Given the description of an element on the screen output the (x, y) to click on. 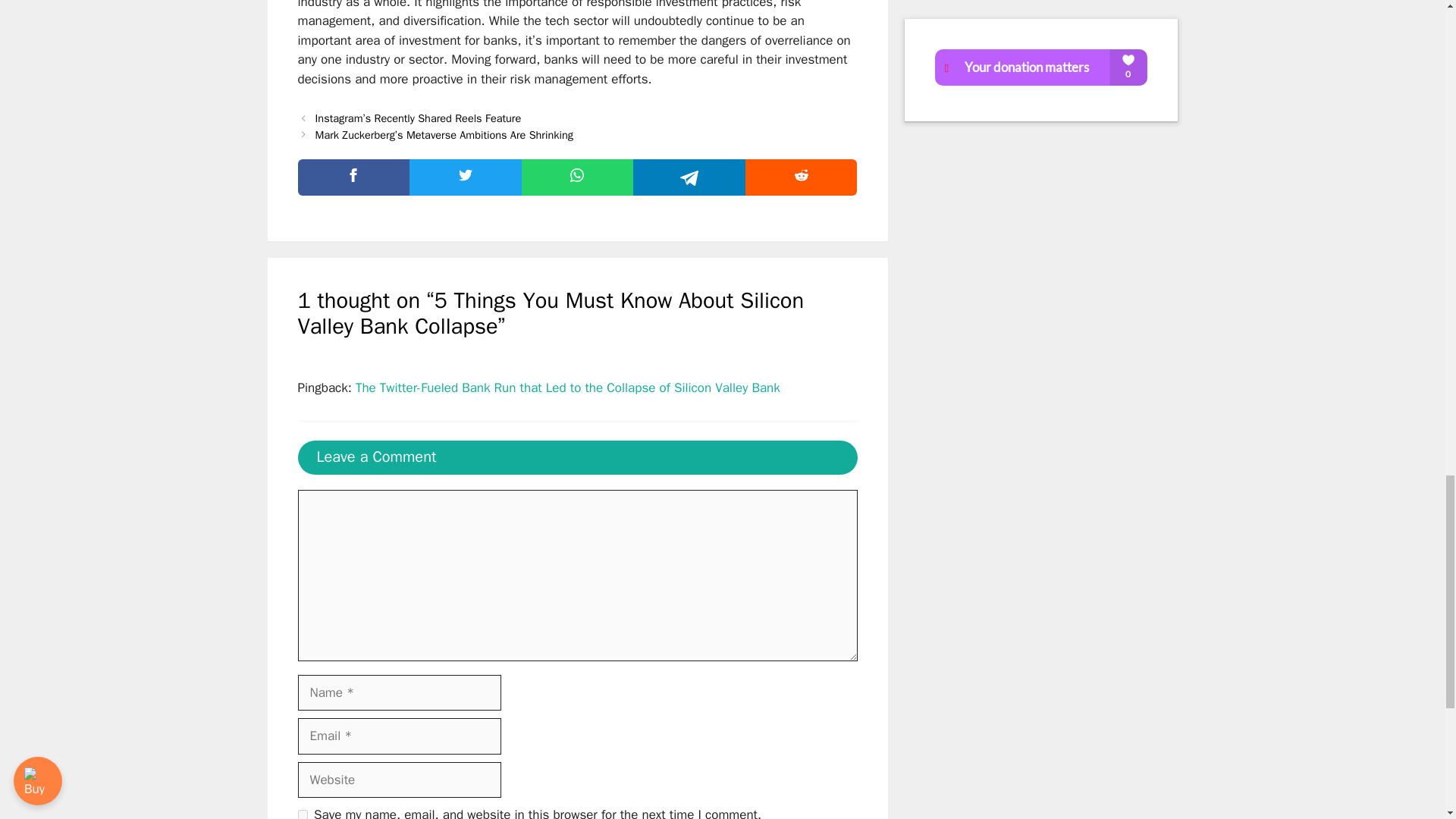
yes (302, 814)
